Given the description of an element on the screen output the (x, y) to click on. 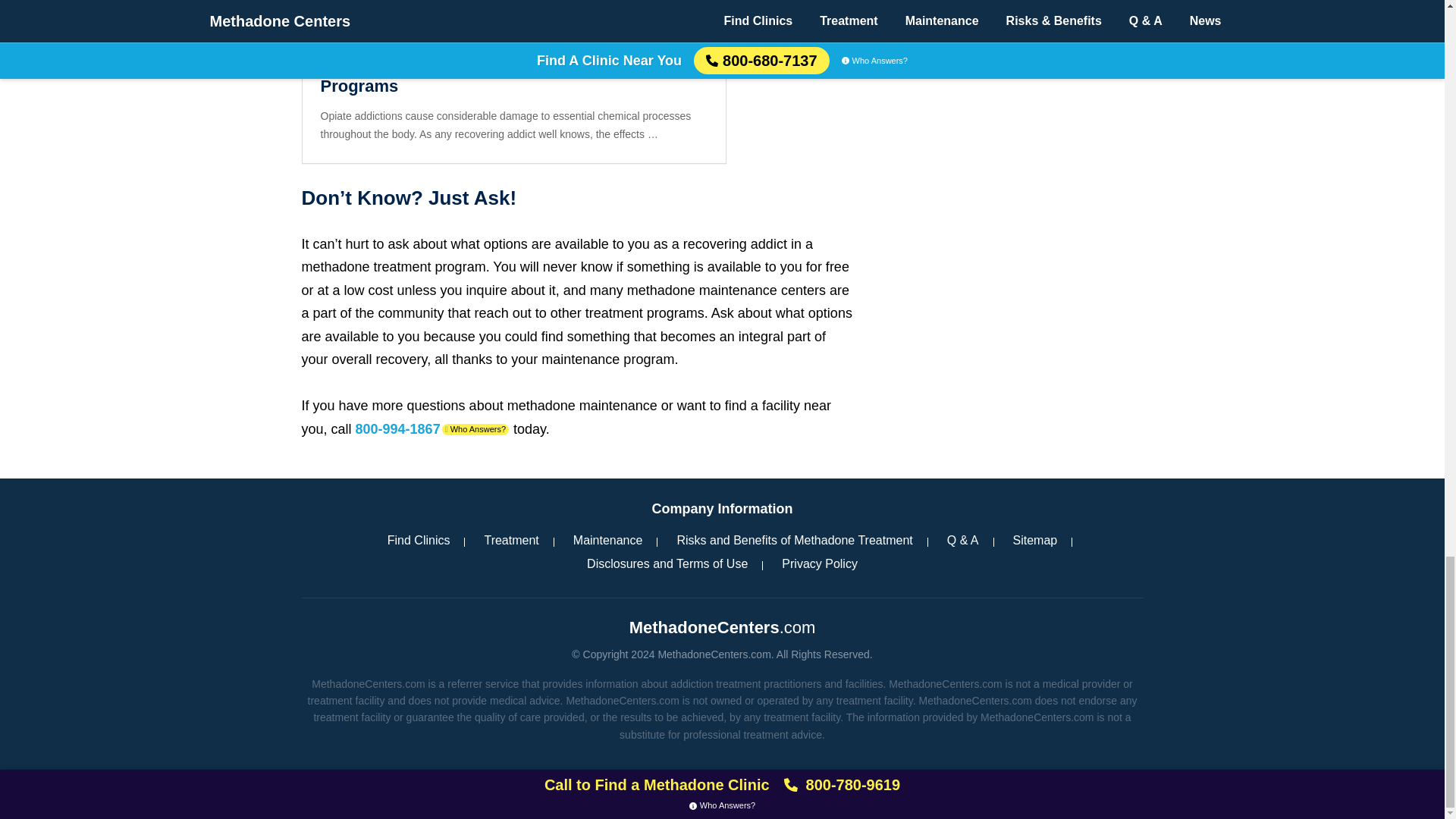
Sitemap (1035, 539)
Effective Methadone Maintenance Treatment Programs (513, 76)
Maintenance (608, 539)
MethadoneCenters.com (721, 627)
Privacy Policy (819, 563)
Find Clinics (419, 539)
Effective Methadone Maintenance Treatment Programs (513, 76)
Risks and Benefits of Methadone Treatment (794, 539)
800-994-1867 (398, 428)
Treatment (511, 539)
Disclosures and Terms of Use (667, 563)
